Given the description of an element on the screen output the (x, y) to click on. 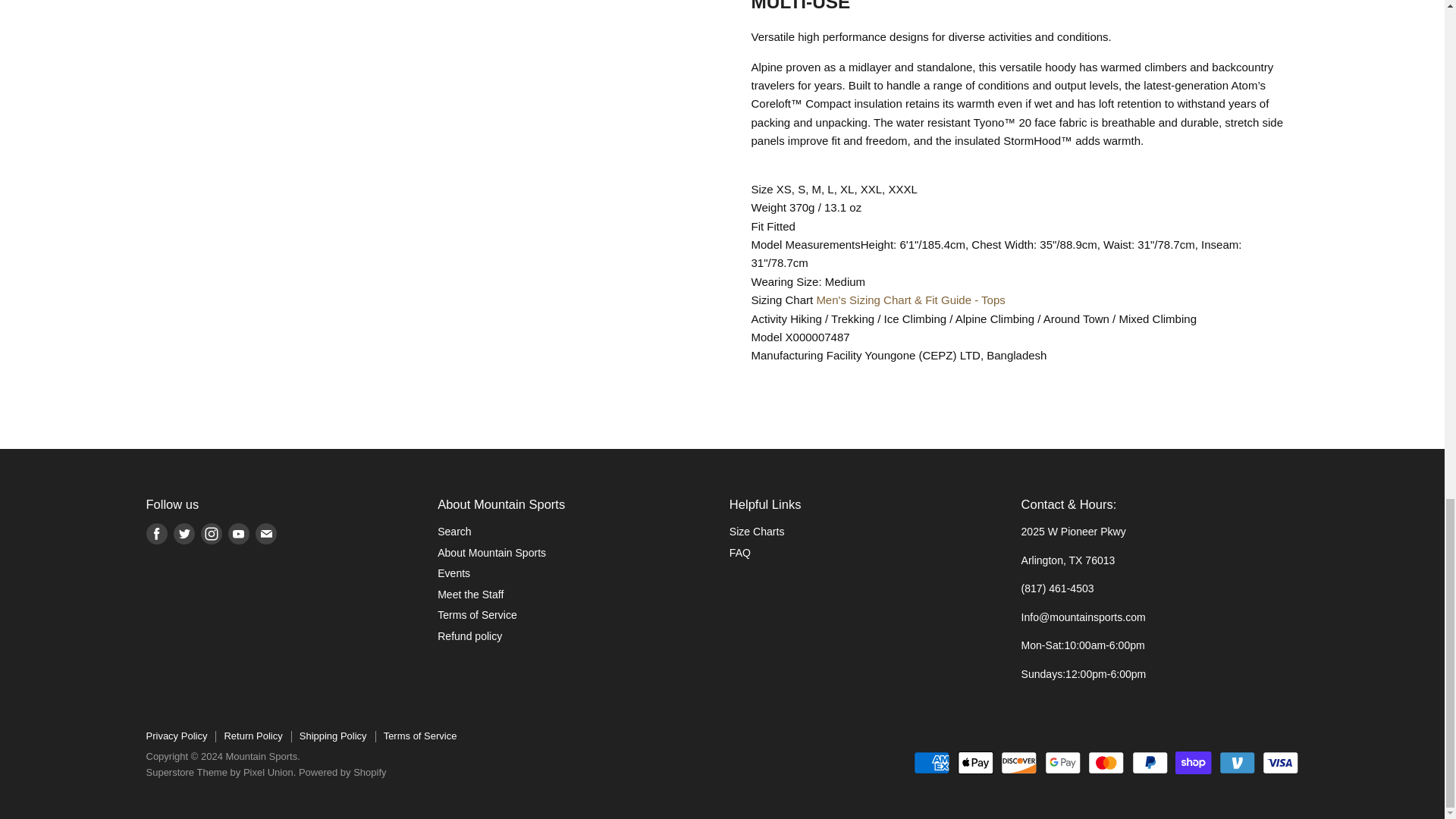
Youtube (237, 533)
Twitter (183, 533)
E-mail (265, 533)
Facebook (156, 533)
Instagram (210, 533)
